Given the description of an element on the screen output the (x, y) to click on. 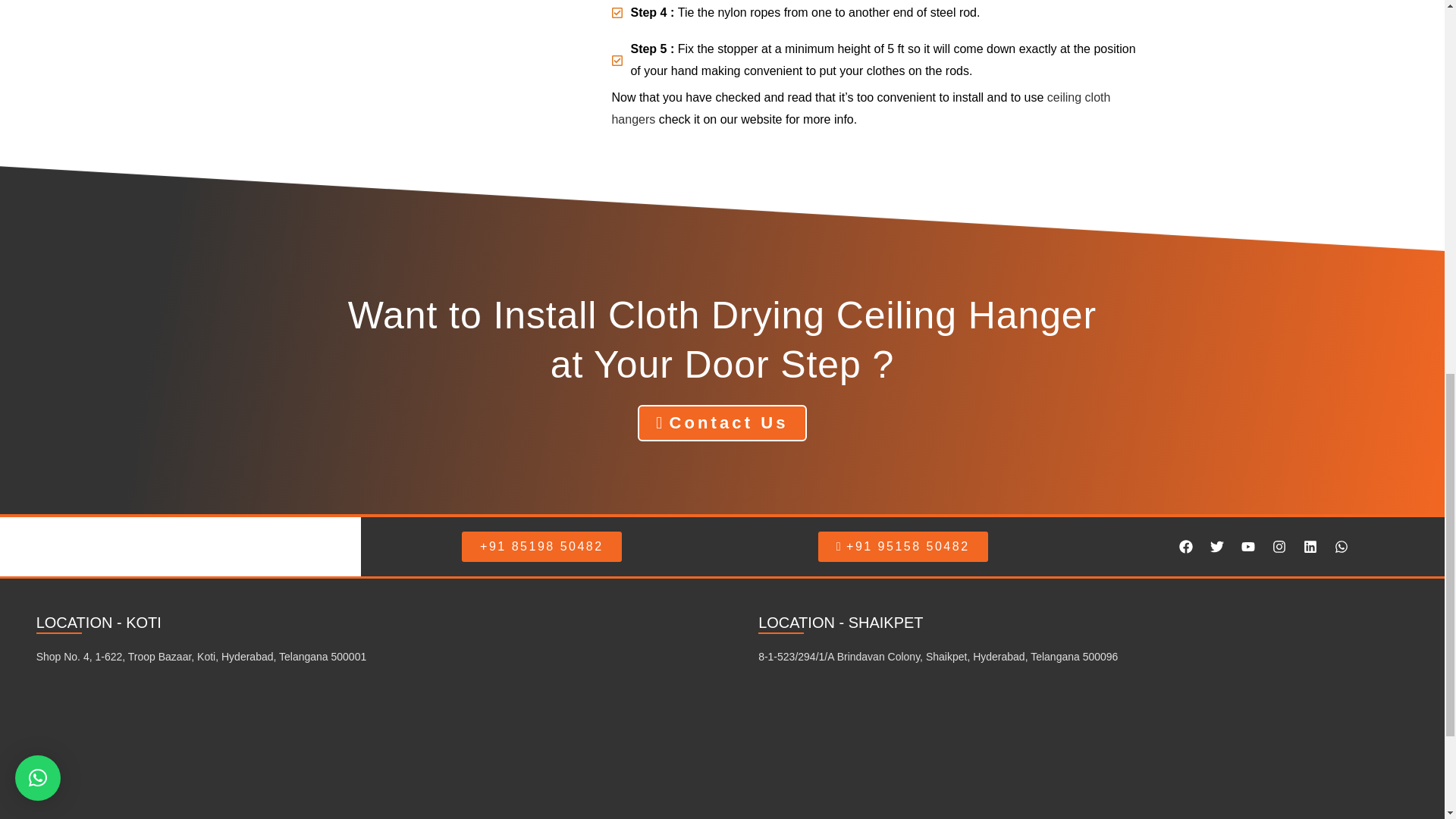
ceiling cloth hangers (860, 108)
Contact Us (721, 422)
